Given the description of an element on the screen output the (x, y) to click on. 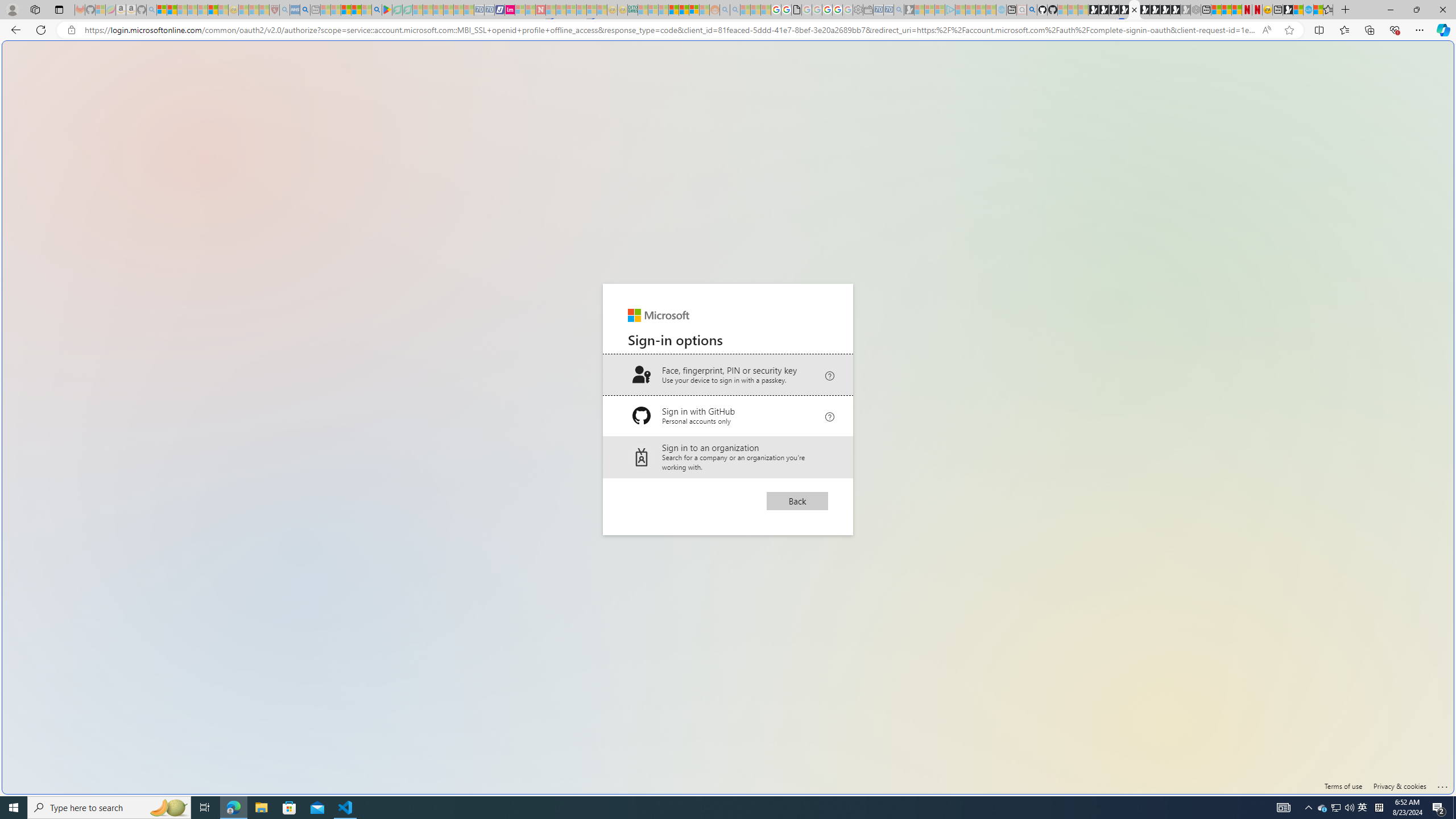
Kinda Frugal - MSN (684, 9)
Learn more about signing in with GitHub (829, 415)
Sign in to your account (1134, 9)
